Given the description of an element on the screen output the (x, y) to click on. 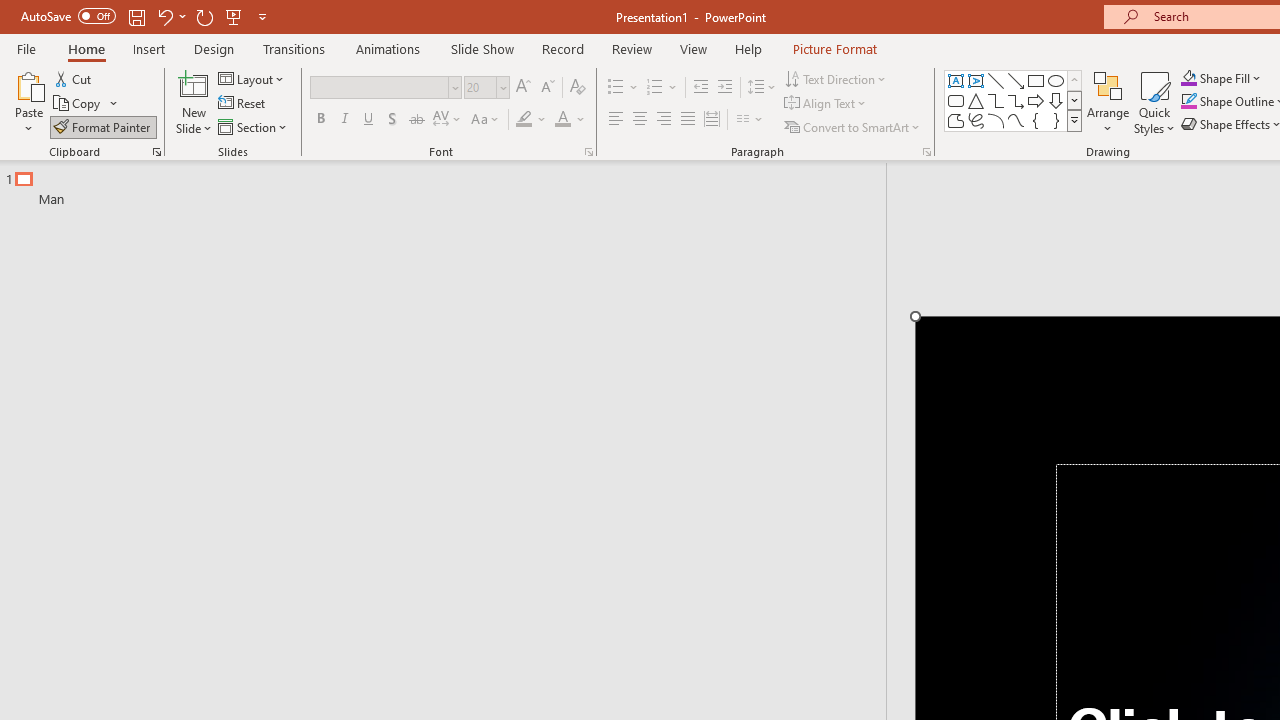
Picture Format (834, 48)
